Given the description of an element on the screen output the (x, y) to click on. 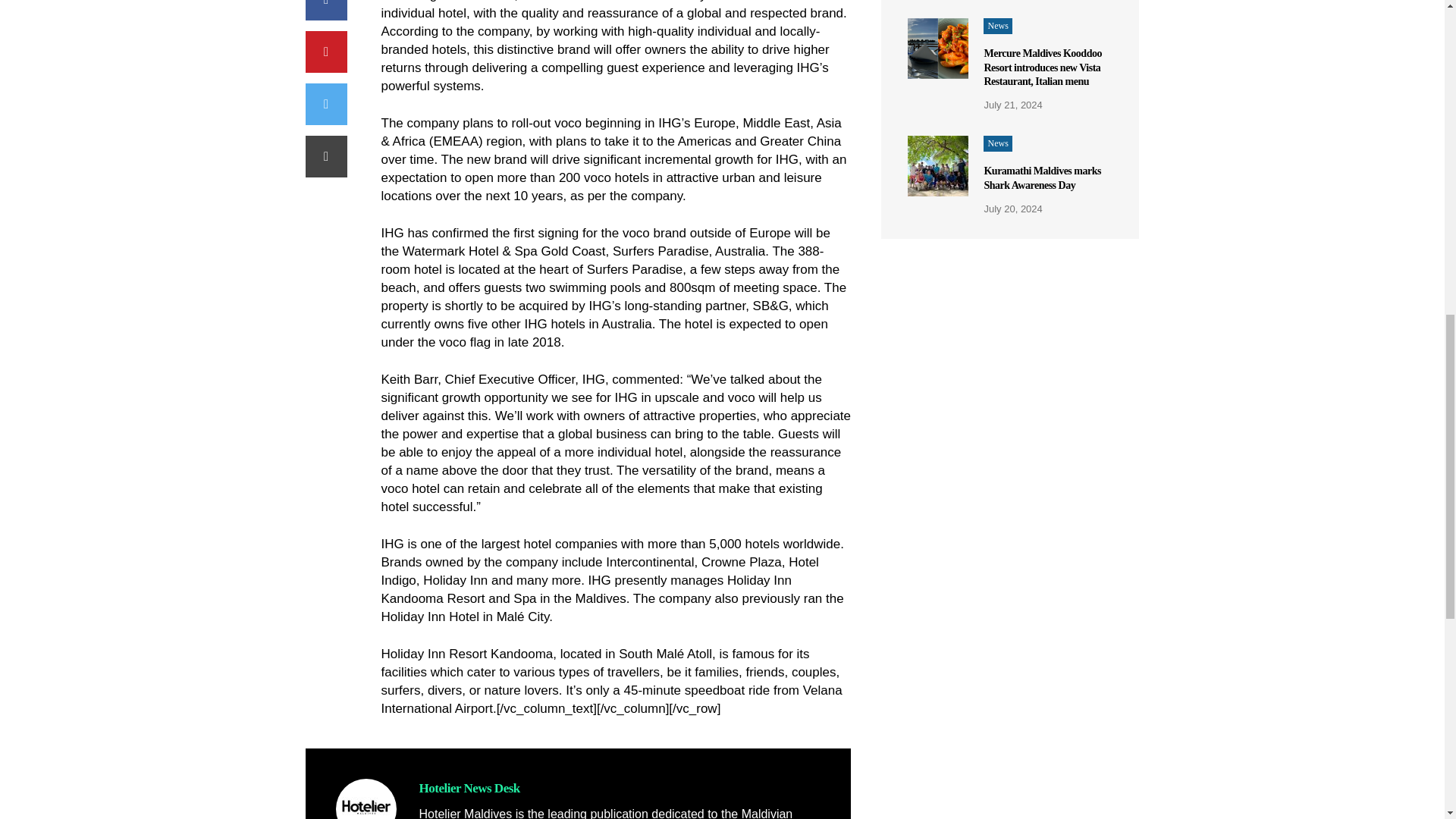
Posts by Hotelier News Desk (469, 788)
Hotelier News Desk (469, 788)
